Given the description of an element on the screen output the (x, y) to click on. 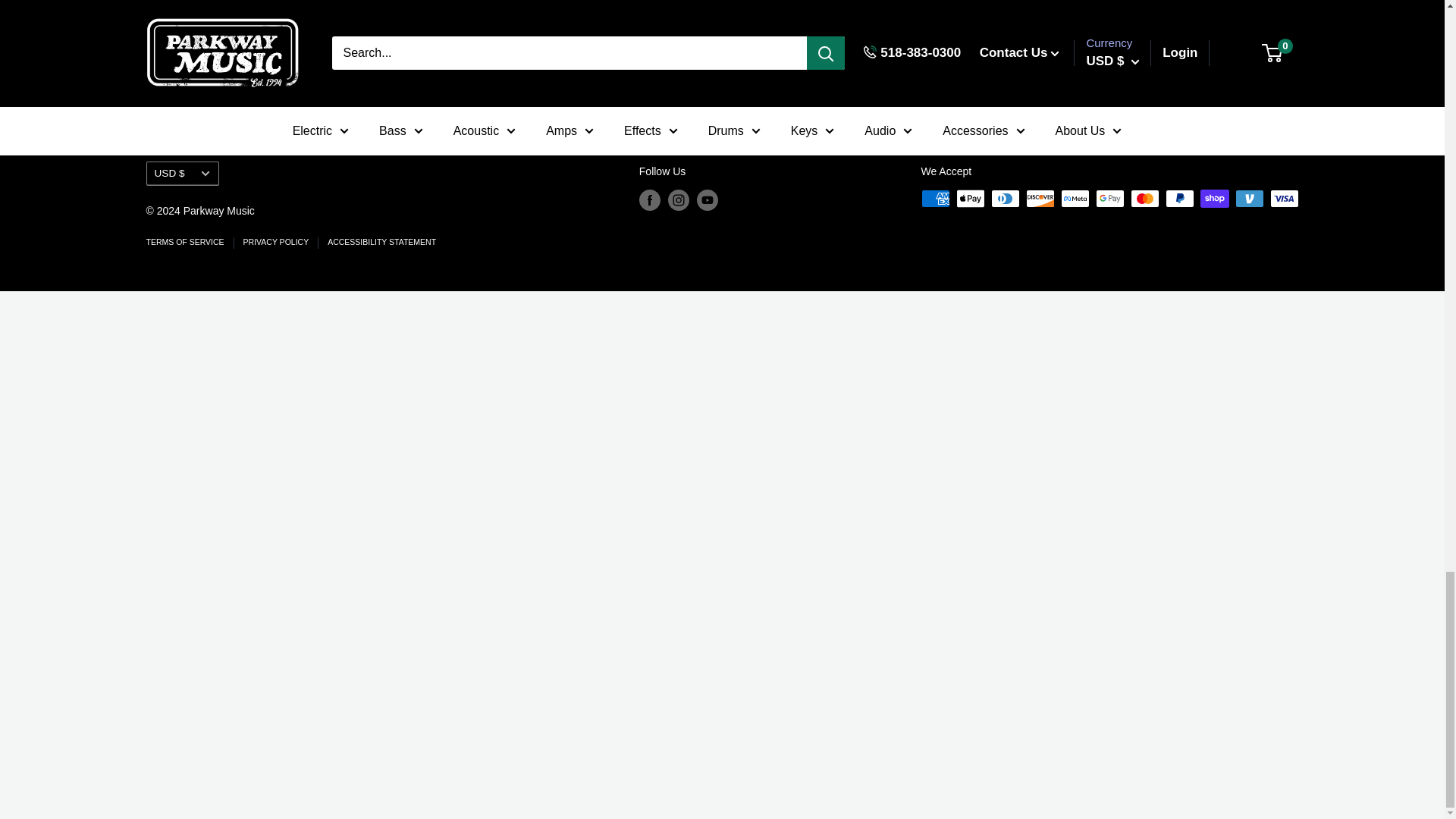
tel:518-383-0300 (1014, 10)
Parkway Music Email Address (1044, 41)
